Given the description of an element on the screen output the (x, y) to click on. 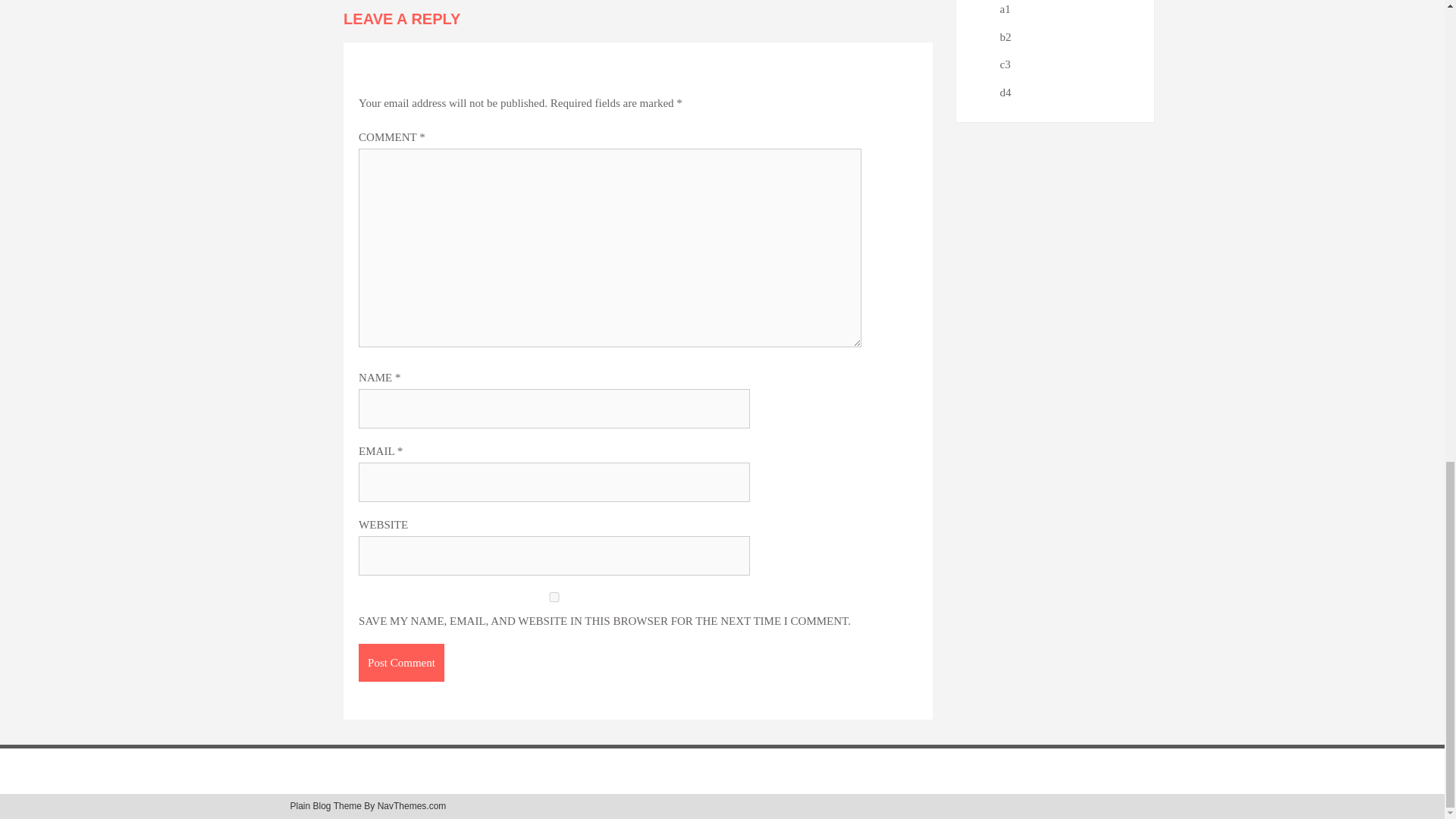
d4 (1004, 92)
yes (553, 596)
b2 (1004, 37)
Plain Blog Theme (325, 805)
Post Comment (401, 662)
NavThemes.com (411, 805)
Post Comment (401, 662)
